Given the description of an element on the screen output the (x, y) to click on. 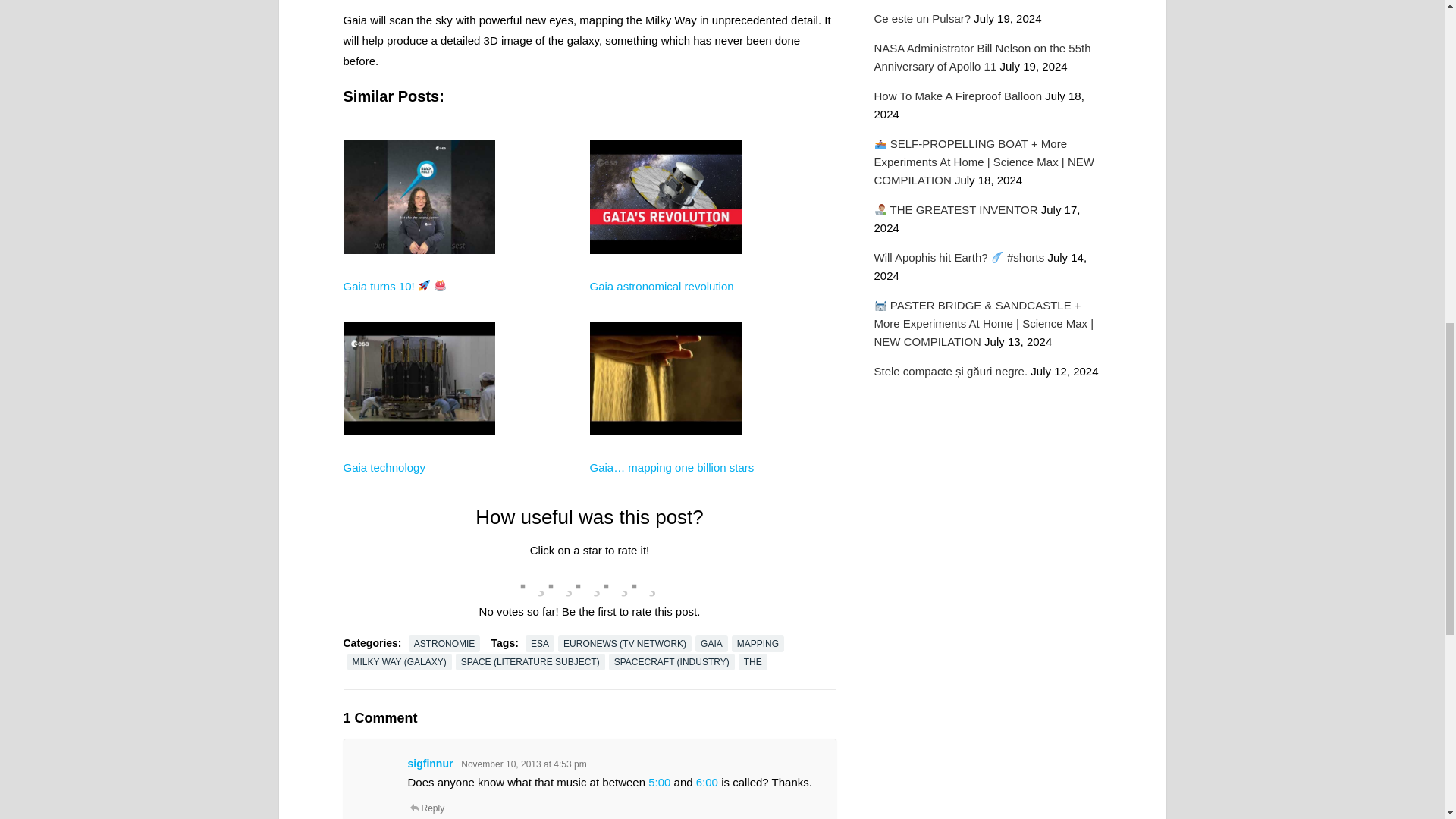
Gaia astronomical revolution (661, 286)
Gaia turns 10! (394, 286)
Gaia (418, 309)
ASTRONOMIE (444, 643)
Gaia (665, 309)
Gaia astronomical revolution (661, 286)
Gaia technology (383, 467)
Gaia technology (383, 467)
ESA (539, 643)
GAIA (711, 643)
Gaia (418, 490)
